Given the description of an element on the screen output the (x, y) to click on. 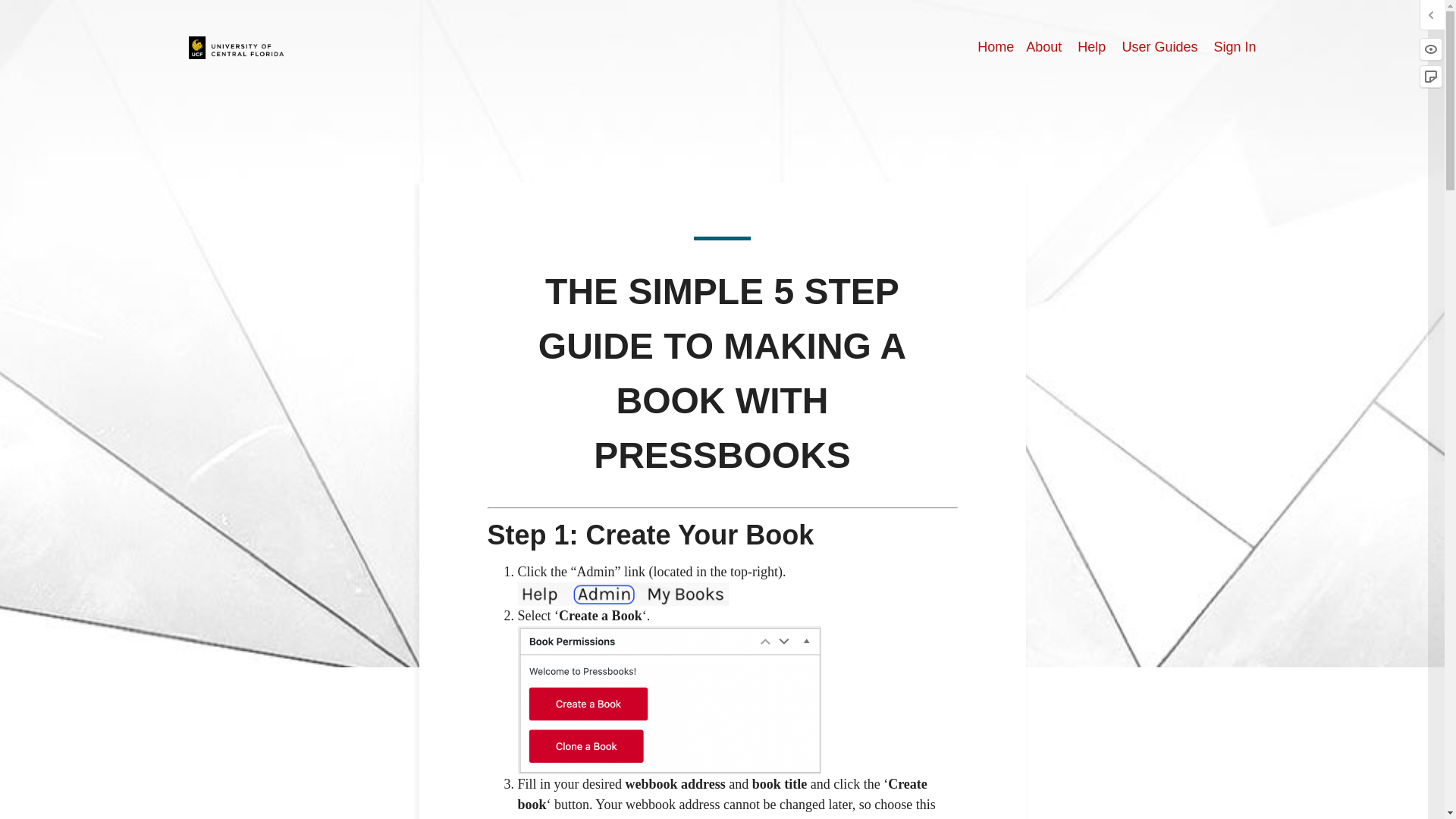
Help (1091, 46)
About (1043, 46)
Sign In (1233, 46)
User Guides (1158, 46)
University of Central Florida Pressbooks (236, 46)
Home (994, 46)
